Given the description of an element on the screen output the (x, y) to click on. 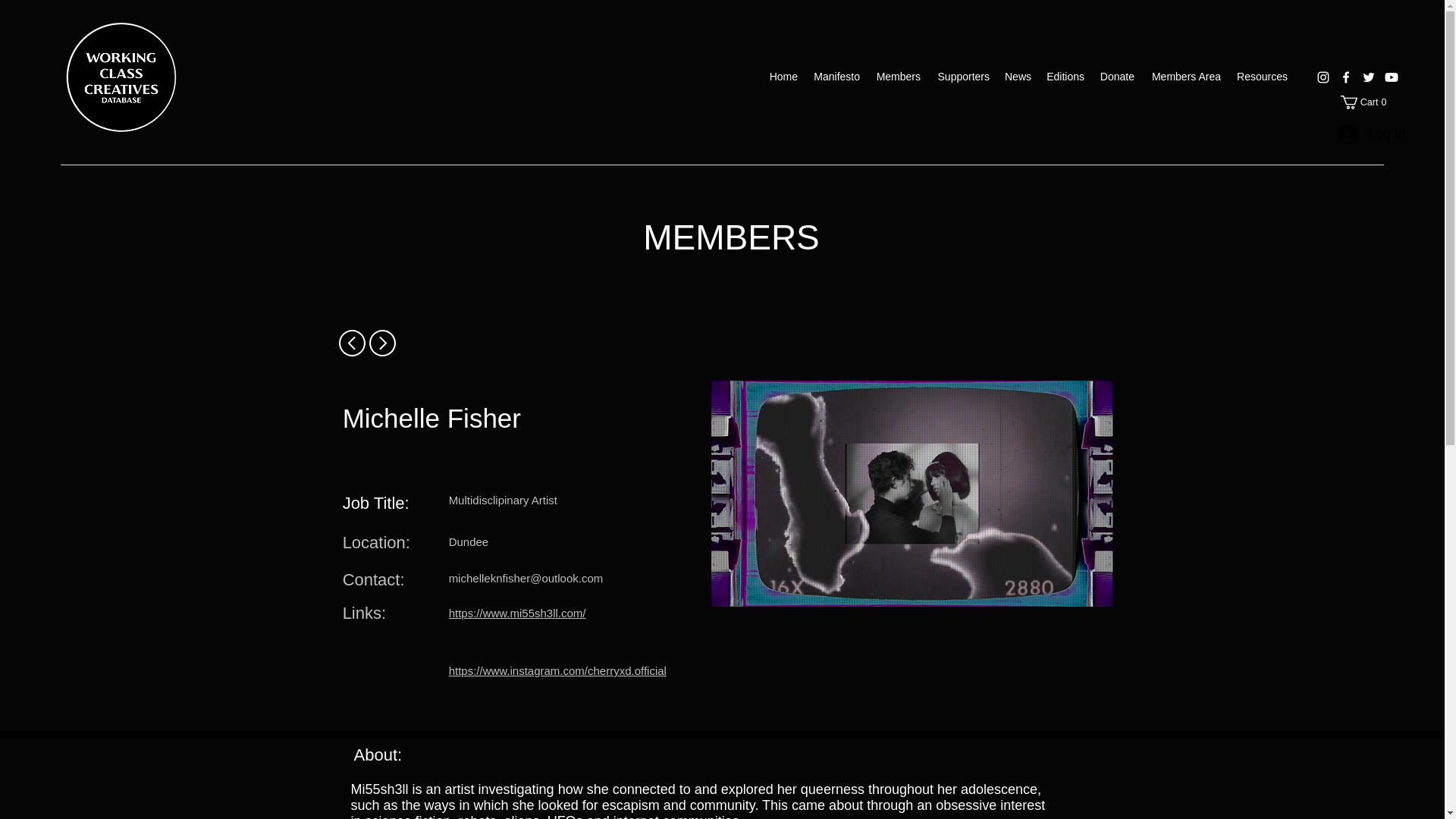
Log In (1358, 133)
Members (897, 76)
Resources (1261, 76)
News (1018, 76)
Members Area (1365, 101)
Donate (1184, 76)
Editions (1116, 76)
Home (1365, 101)
Supporters (1065, 76)
Manifesto (783, 76)
